Given the description of an element on the screen output the (x, y) to click on. 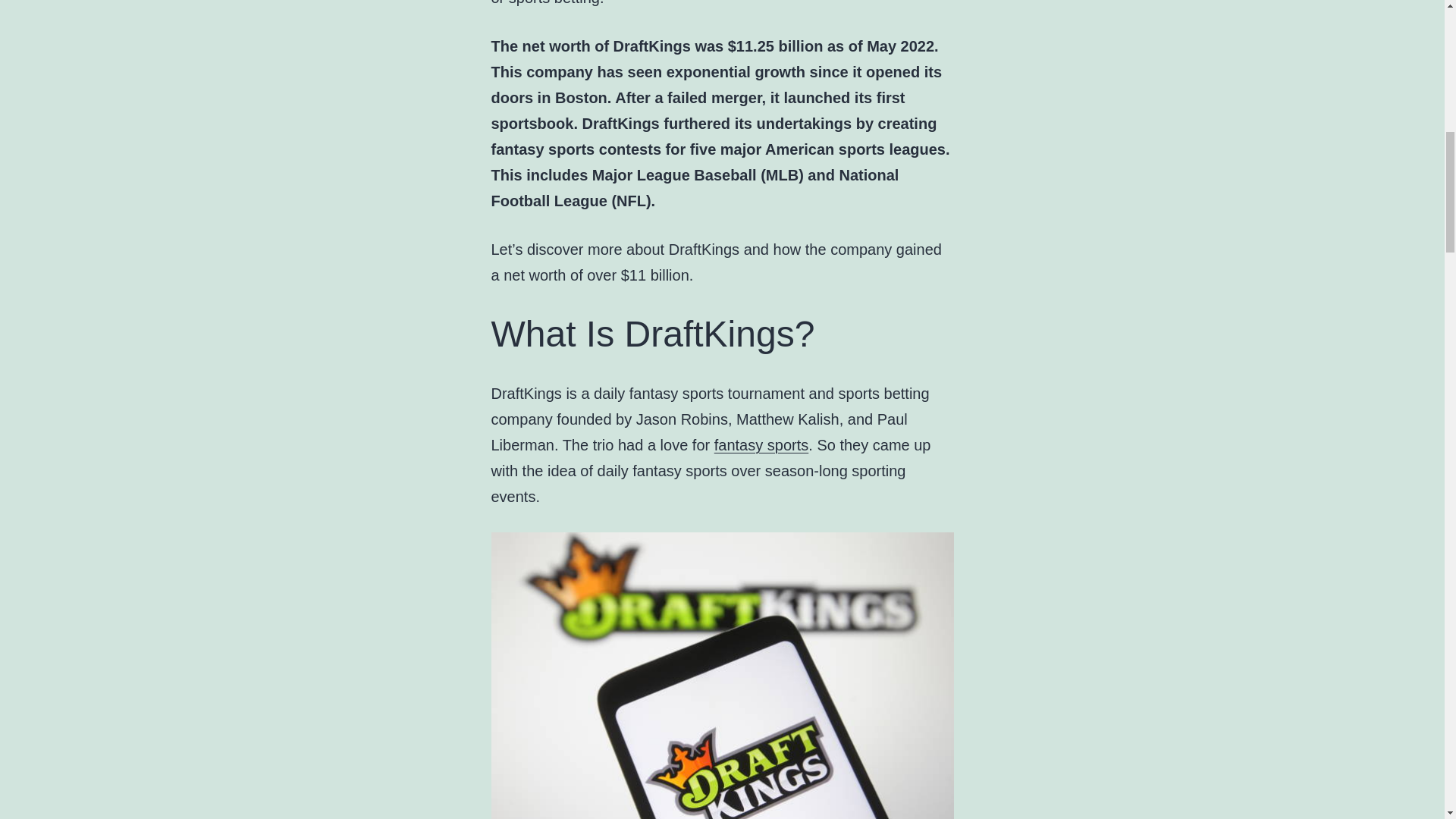
fantasy sports (761, 444)
